Given the description of an element on the screen output the (x, y) to click on. 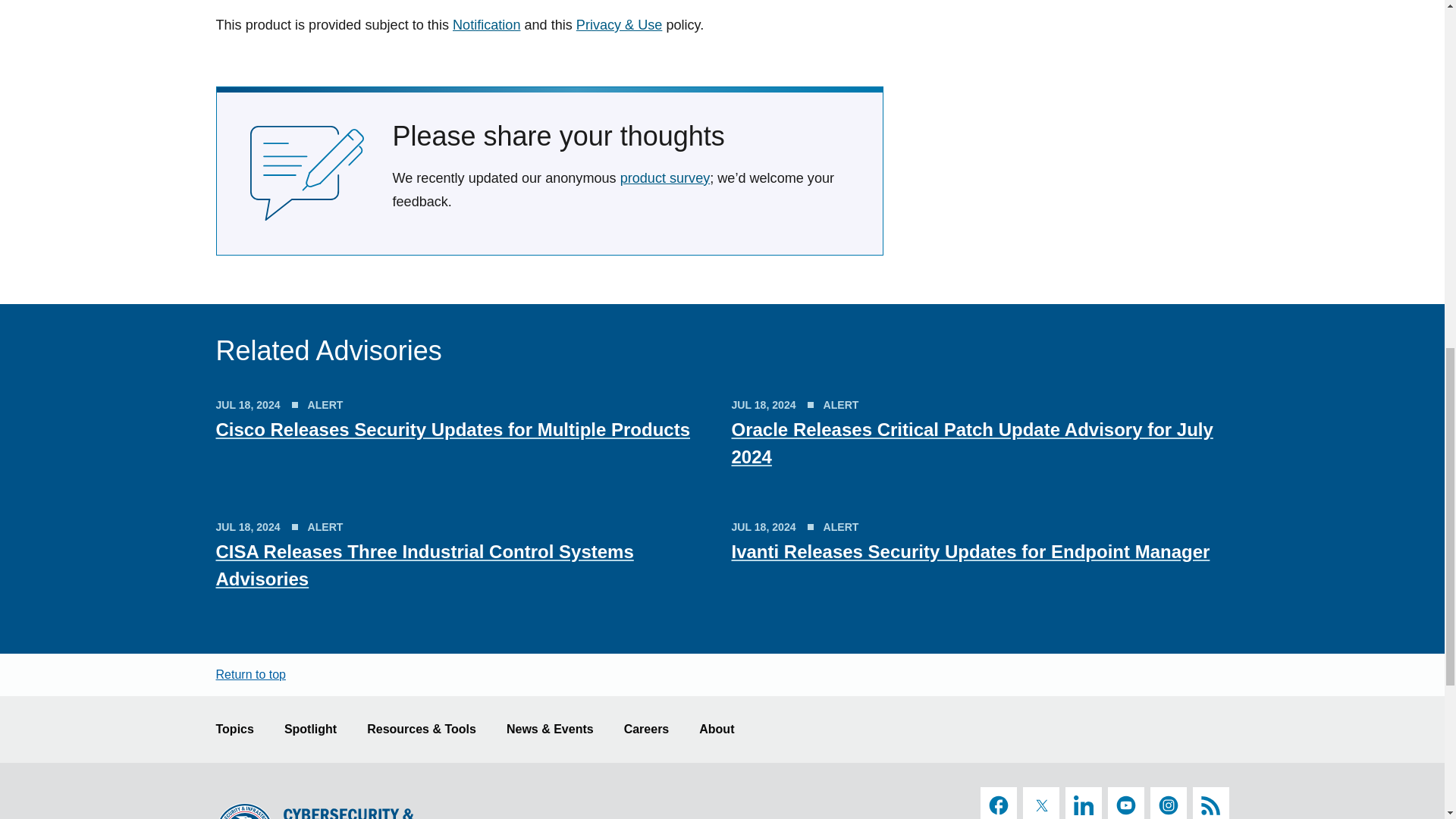
CISA Releases Three Industrial Control Systems Advisories (424, 564)
Oracle Releases Critical Patch Update Advisory for July 2024 (971, 442)
Follow link (485, 24)
Follow link (619, 24)
Notification (485, 24)
Cisco Releases Security Updates for Multiple Products (452, 429)
product survey (665, 177)
Ivanti Releases Security Updates for Endpoint Manager (969, 551)
